Given the description of an element on the screen output the (x, y) to click on. 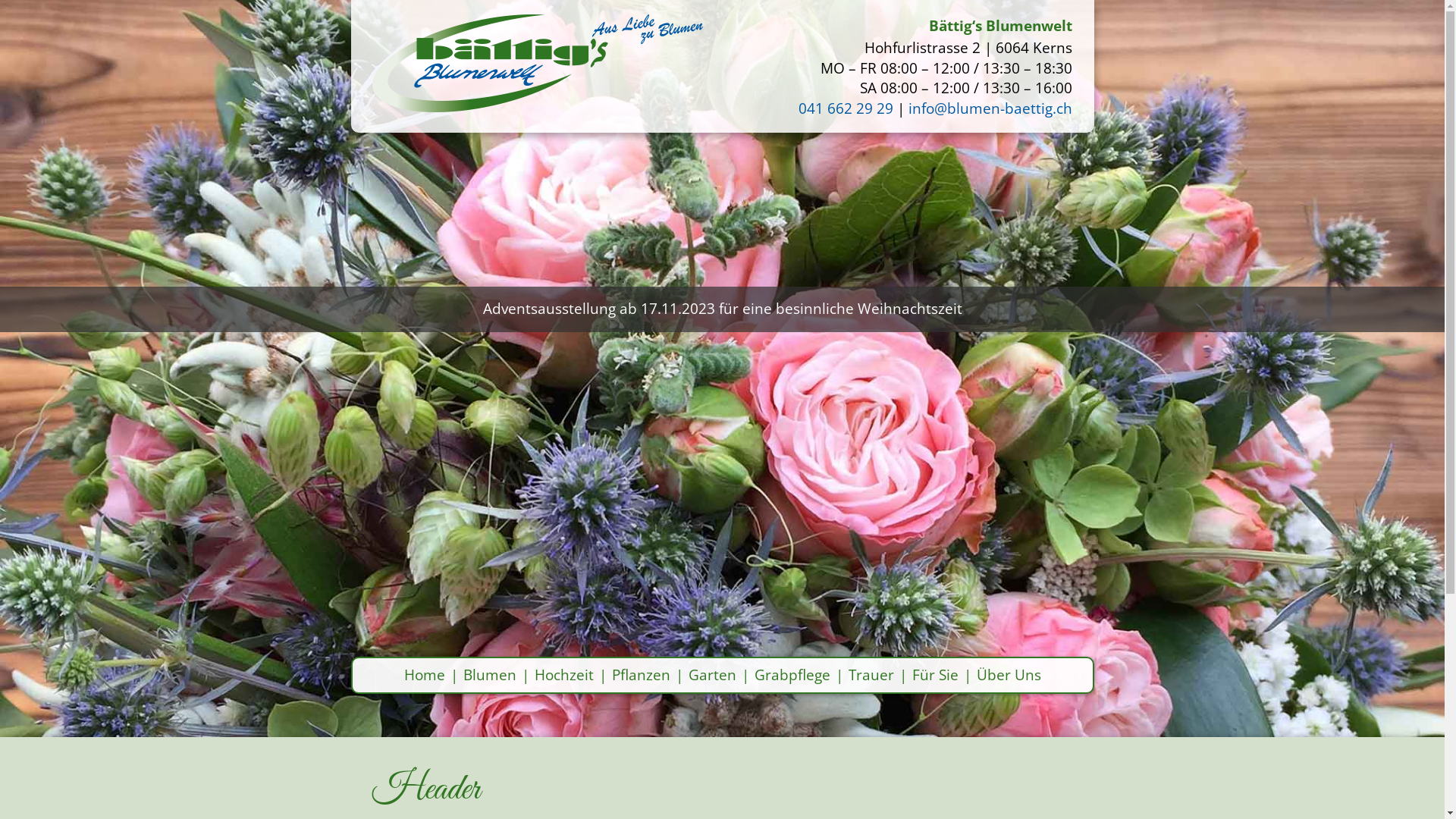
Garten Element type: text (712, 675)
Grabpflege Element type: text (791, 675)
Hochzeit Element type: text (563, 675)
Trauer Element type: text (870, 675)
info@blumen-baettig.ch Element type: text (990, 108)
Home Element type: text (423, 675)
Blumen Element type: text (488, 675)
Pflanzen Element type: text (640, 675)
041 662 29 29 Element type: text (845, 108)
